Given the description of an element on the screen output the (x, y) to click on. 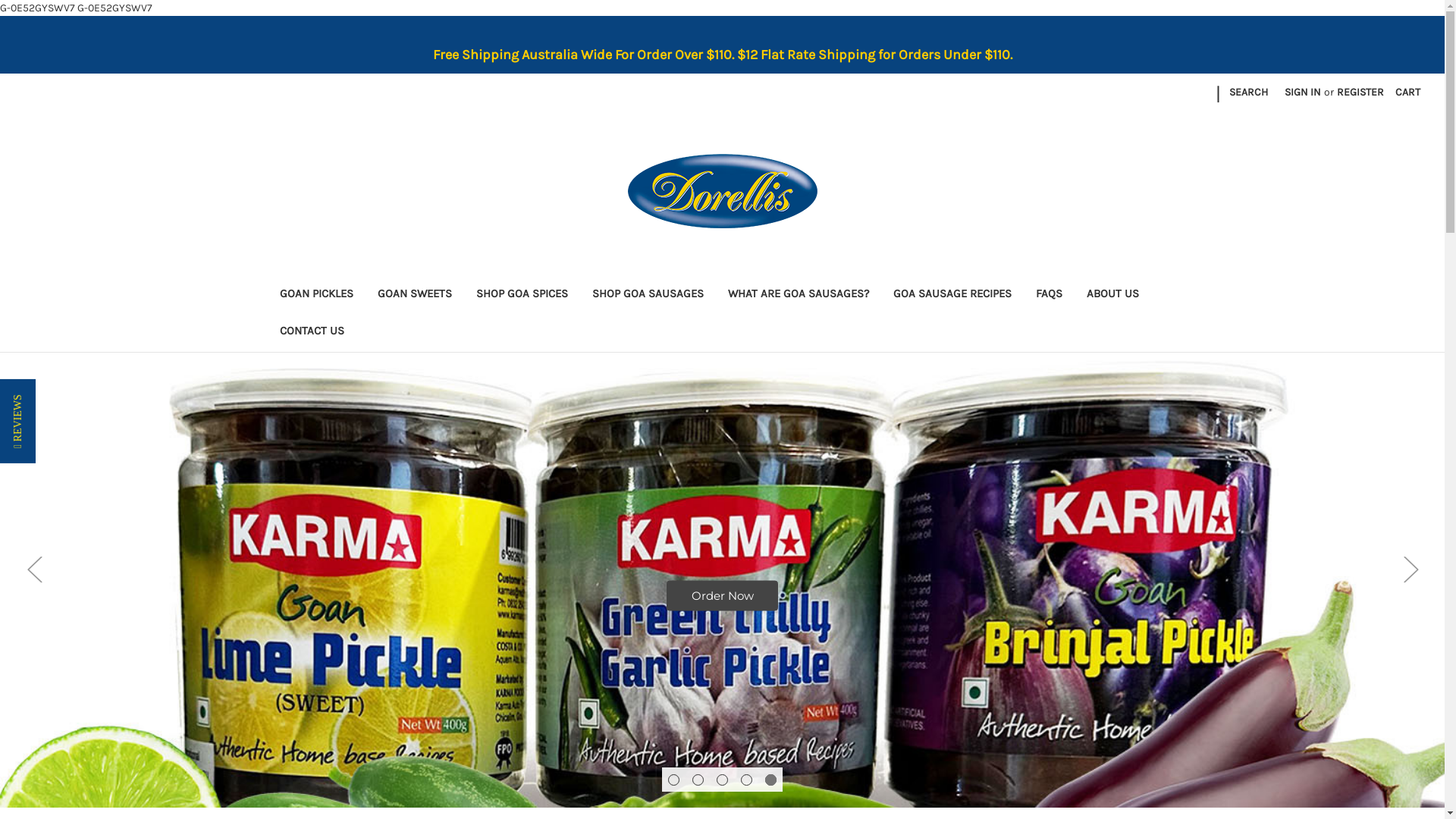
REGISTER Element type: text (1360, 91)
Previous Element type: text (33, 568)
SHOP GOA SAUSAGES Element type: text (647, 294)
4 Element type: text (746, 779)
SIGN IN Element type: text (1302, 91)
1 Element type: text (673, 779)
Dorellis International Pty. Ltd. Element type: hover (722, 190)
GOAN SWEETS Element type: text (414, 294)
WHAT ARE GOA SAUSAGES? Element type: text (798, 294)
SHOP GOA SPICES Element type: text (522, 294)
GOAN PICKLES Element type: text (315, 294)
SEARCH Element type: text (1248, 91)
Find Goa Sausage Recipes Element type: text (722, 579)
2 Element type: text (697, 779)
CONTACT US Element type: text (310, 332)
ABOUT US Element type: text (1111, 294)
GOA SAUSAGE RECIPES Element type: text (952, 294)
Next Element type: text (1410, 568)
FAQS Element type: text (1048, 294)
5 Element type: text (770, 779)
CART Element type: text (1407, 91)
3 Element type: text (722, 779)
